Given the description of an element on the screen output the (x, y) to click on. 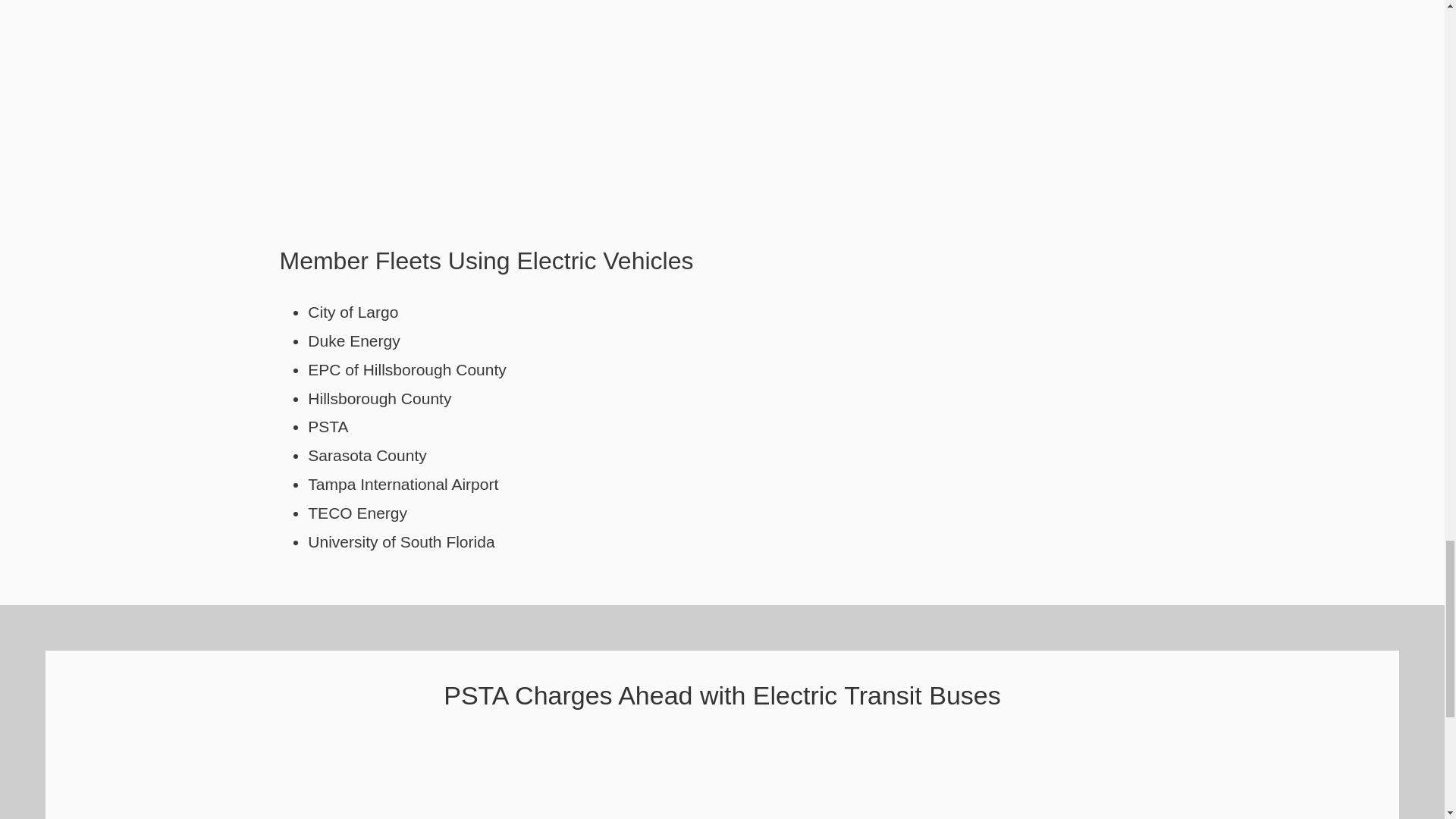
Alt Fuel Data Center EV Stations in Florida (730, 76)
